Given the description of an element on the screen output the (x, y) to click on. 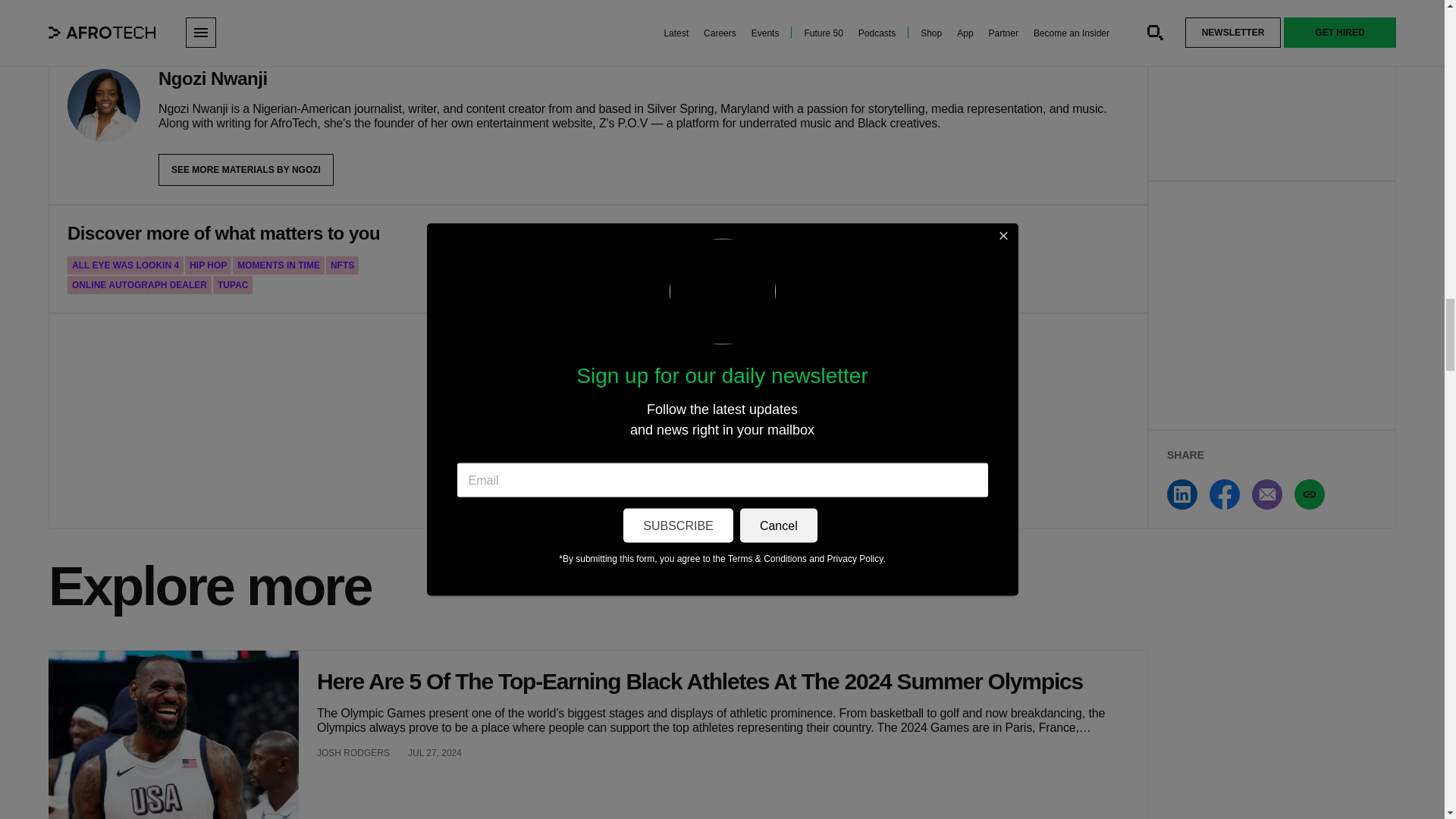
MOMENTS IN TIME (278, 265)
HIP HOP (207, 265)
SEE MORE MATERIALS BY NGOZI (245, 169)
Ngozi Nwanji (102, 104)
NFTS (342, 265)
Ngozi Nwanji (212, 78)
ALL EYE WAS LOOKIN 4 (124, 265)
